Given the description of an element on the screen output the (x, y) to click on. 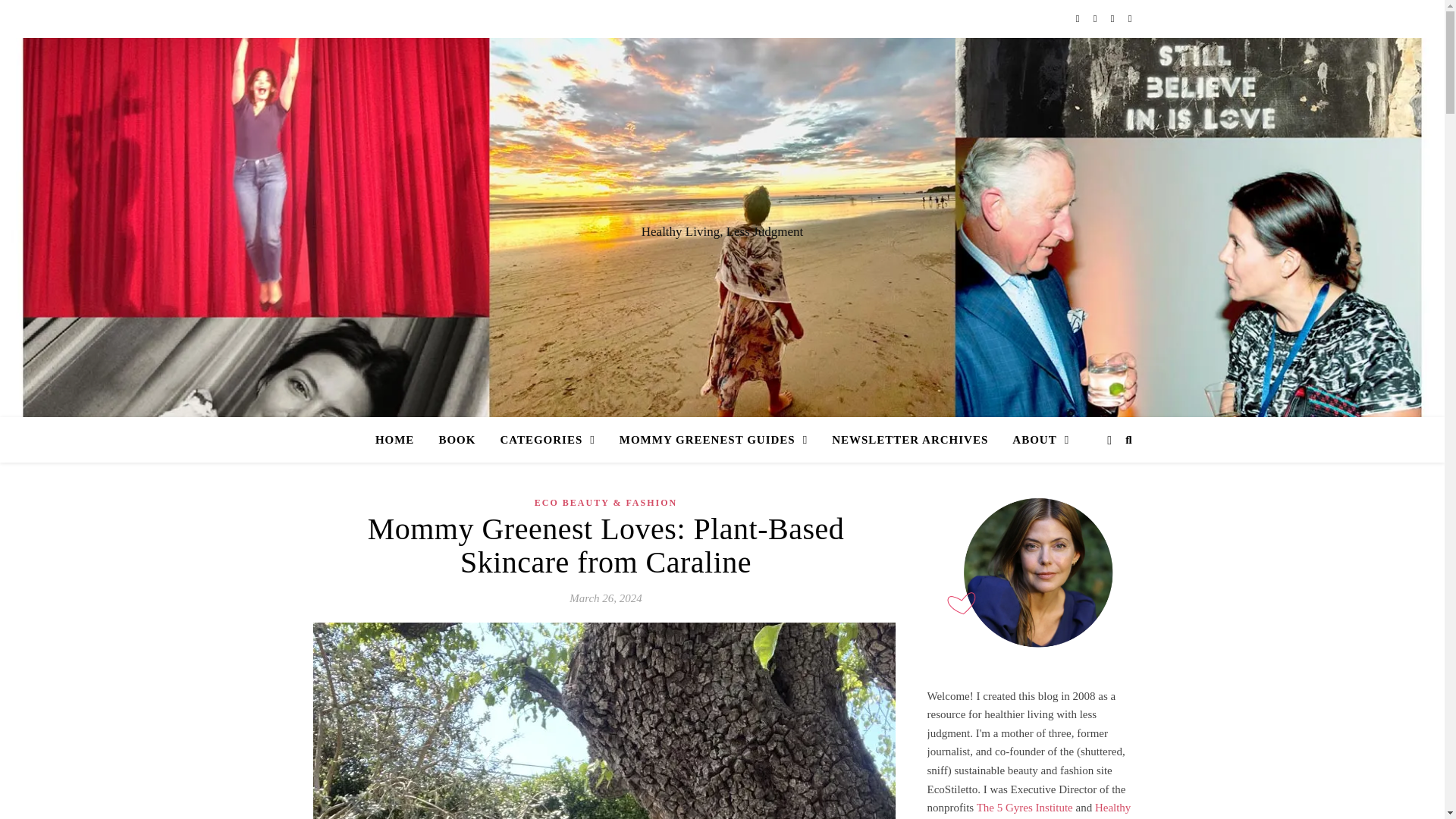
NEWSLETTER ARCHIVES (909, 439)
MOMMY GREENEST GUIDES (713, 439)
HOME (400, 439)
CATEGORIES (547, 439)
ABOUT (1034, 439)
BOOK (456, 439)
